Given the description of an element on the screen output the (x, y) to click on. 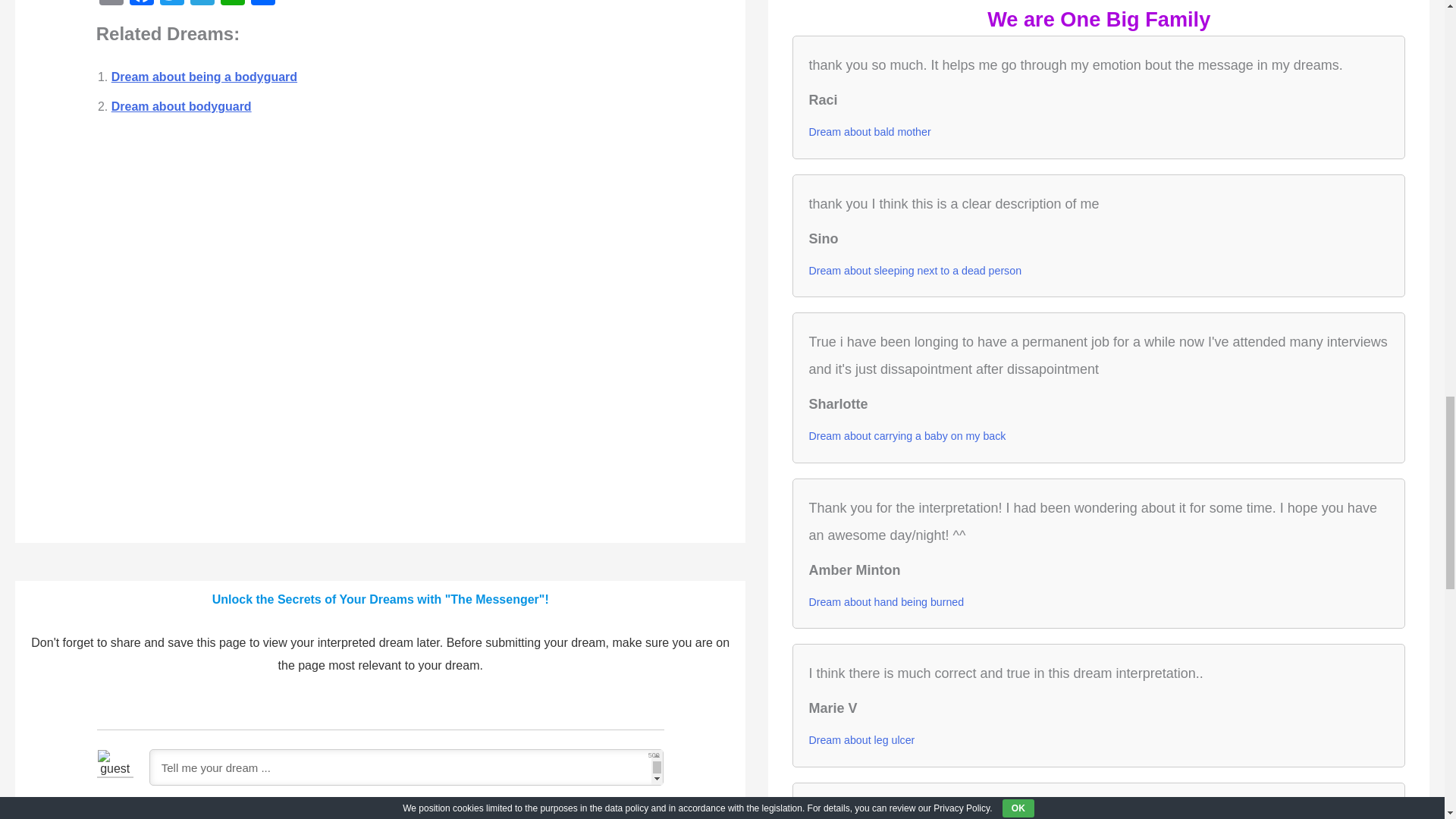
Email (111, 4)
Dream about bald mother (869, 131)
Dream about bodyguard (181, 106)
Telegram (201, 4)
Email (111, 4)
Dream about carrying a baby on my back (907, 435)
Dream about being a bodyguard (204, 76)
Facebook (141, 4)
Dream about sleeping next to a dead person (915, 270)
Facebook (141, 4)
